Given the description of an element on the screen output the (x, y) to click on. 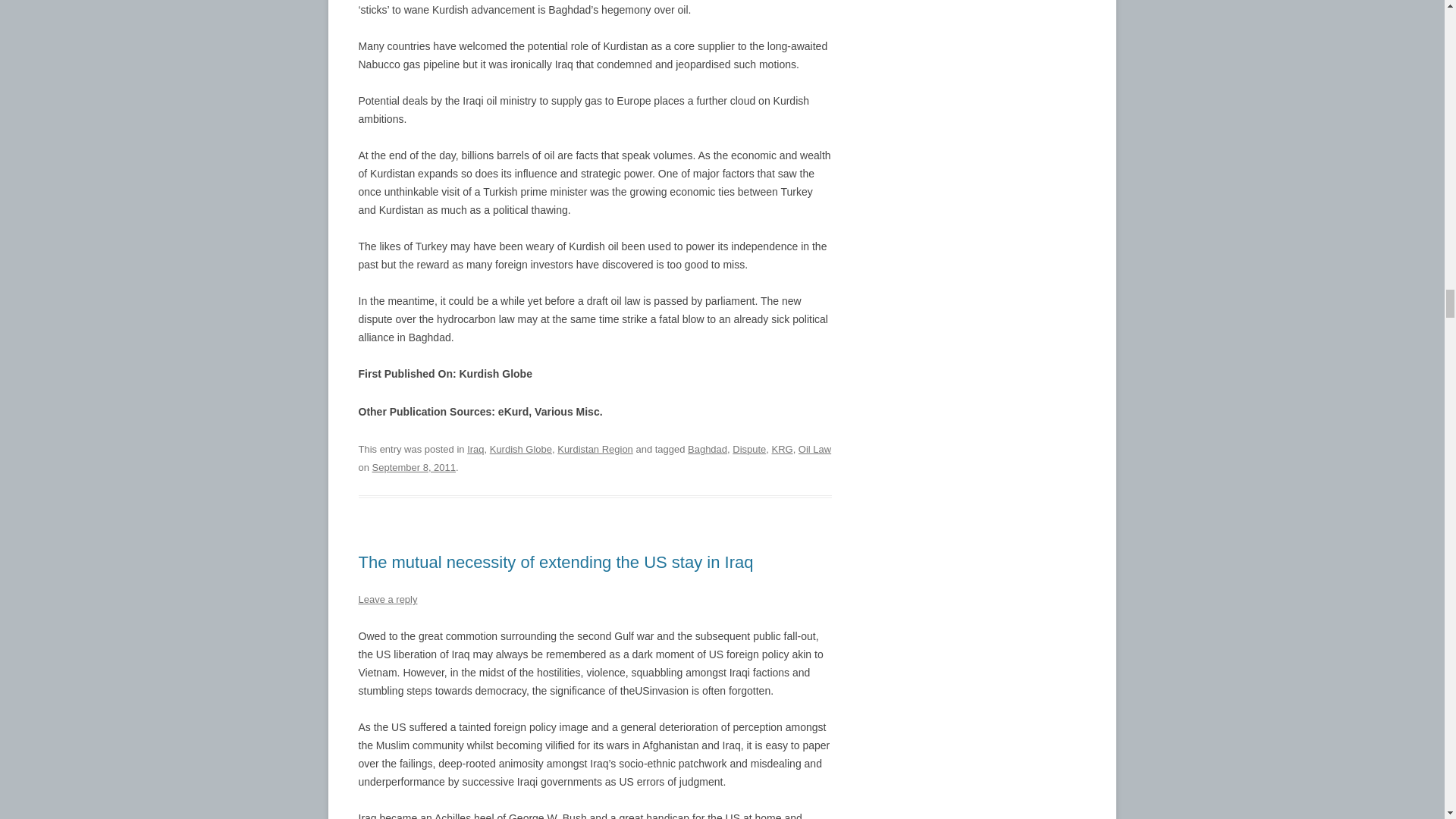
Iraq (475, 449)
Kurdistan Region (595, 449)
12:00 am (413, 467)
Kurdish Globe (520, 449)
